Given the description of an element on the screen output the (x, y) to click on. 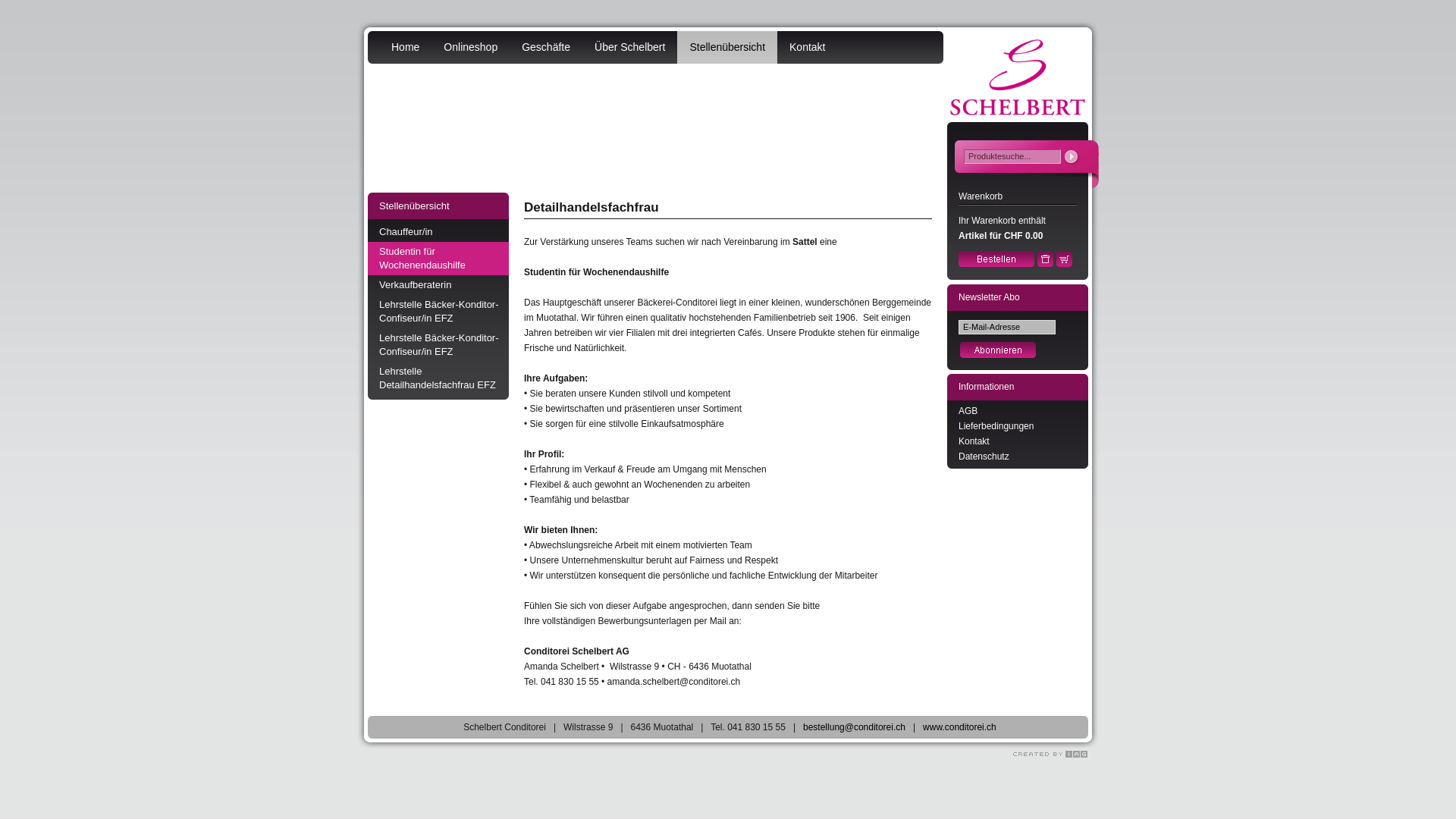
Verkaufberaterin Element type: text (437, 284)
Lehrstelle Detailhandelsfachfrau EFZ Element type: text (437, 378)
Chauffeur/in Element type: text (437, 231)
Onlineshop Element type: text (470, 47)
Bestellen... Element type: hover (996, 263)
Lieferbedingungen Element type: text (995, 425)
Kontakt Element type: text (807, 47)
bestellung@conditorei.ch Element type: text (854, 726)
Warenkorb Ansicht... Element type: hover (1064, 263)
AGB Element type: text (967, 410)
Kontakt Element type: text (973, 441)
Datenschutz Element type: text (983, 456)
www.conditorei.ch Element type: text (959, 726)
Home Element type: text (405, 47)
